Given the description of an element on the screen output the (x, y) to click on. 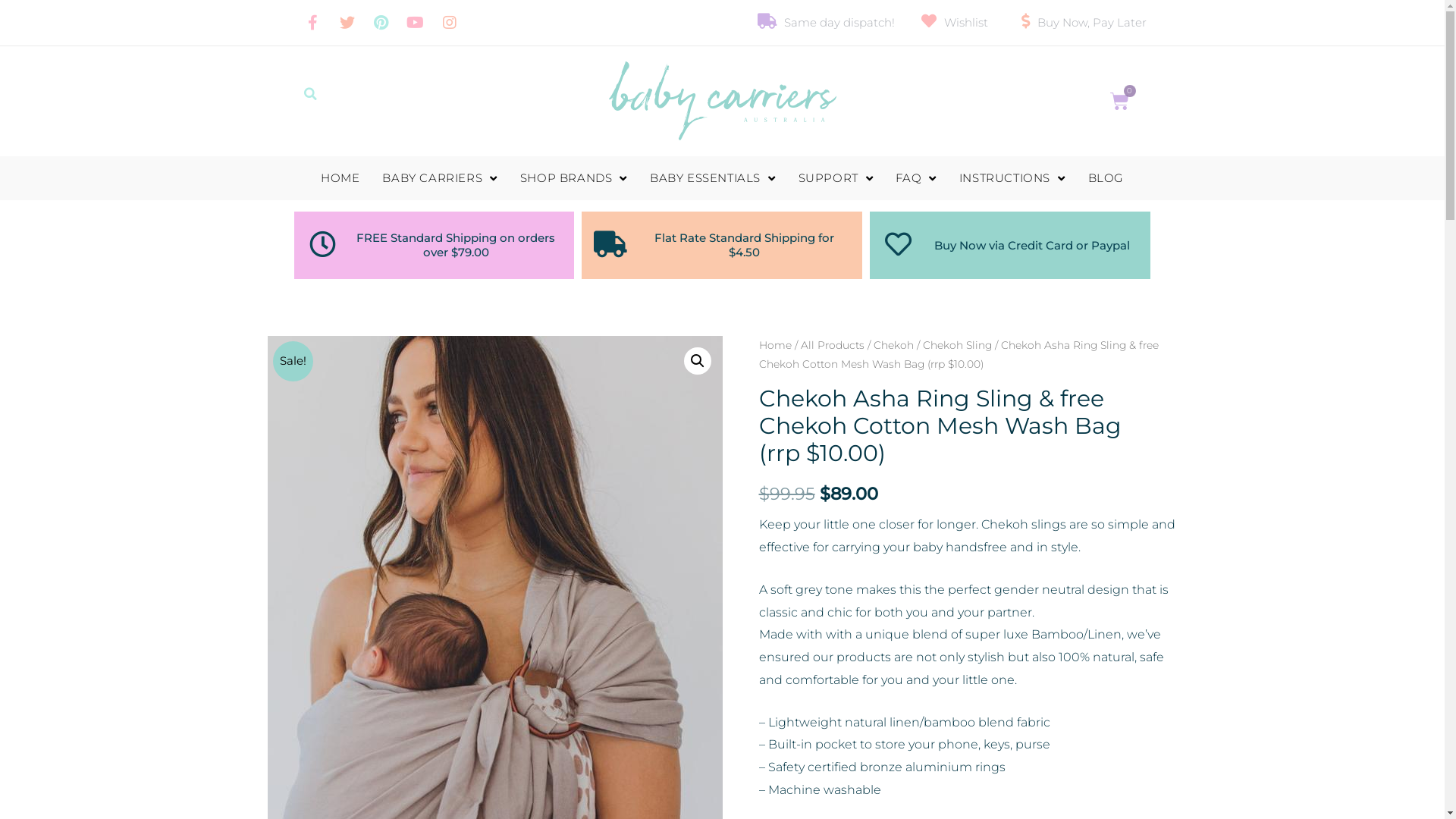
Home Element type: text (774, 344)
SHOP BRANDS Element type: text (573, 177)
Chekoh Sling Element type: text (956, 344)
BLOG Element type: text (1105, 177)
HOME Element type: text (339, 177)
BABY ESSENTIALS Element type: text (712, 177)
Buy Now, Pay Later Element type: text (1078, 22)
Wishlist Element type: text (952, 22)
FAQ Element type: text (915, 177)
All Products Element type: text (832, 344)
INSTRUCTIONS Element type: text (1011, 177)
BABY CARRIERS Element type: text (439, 177)
Chekoh Element type: text (893, 344)
SUPPORT Element type: text (835, 177)
